Given the description of an element on the screen output the (x, y) to click on. 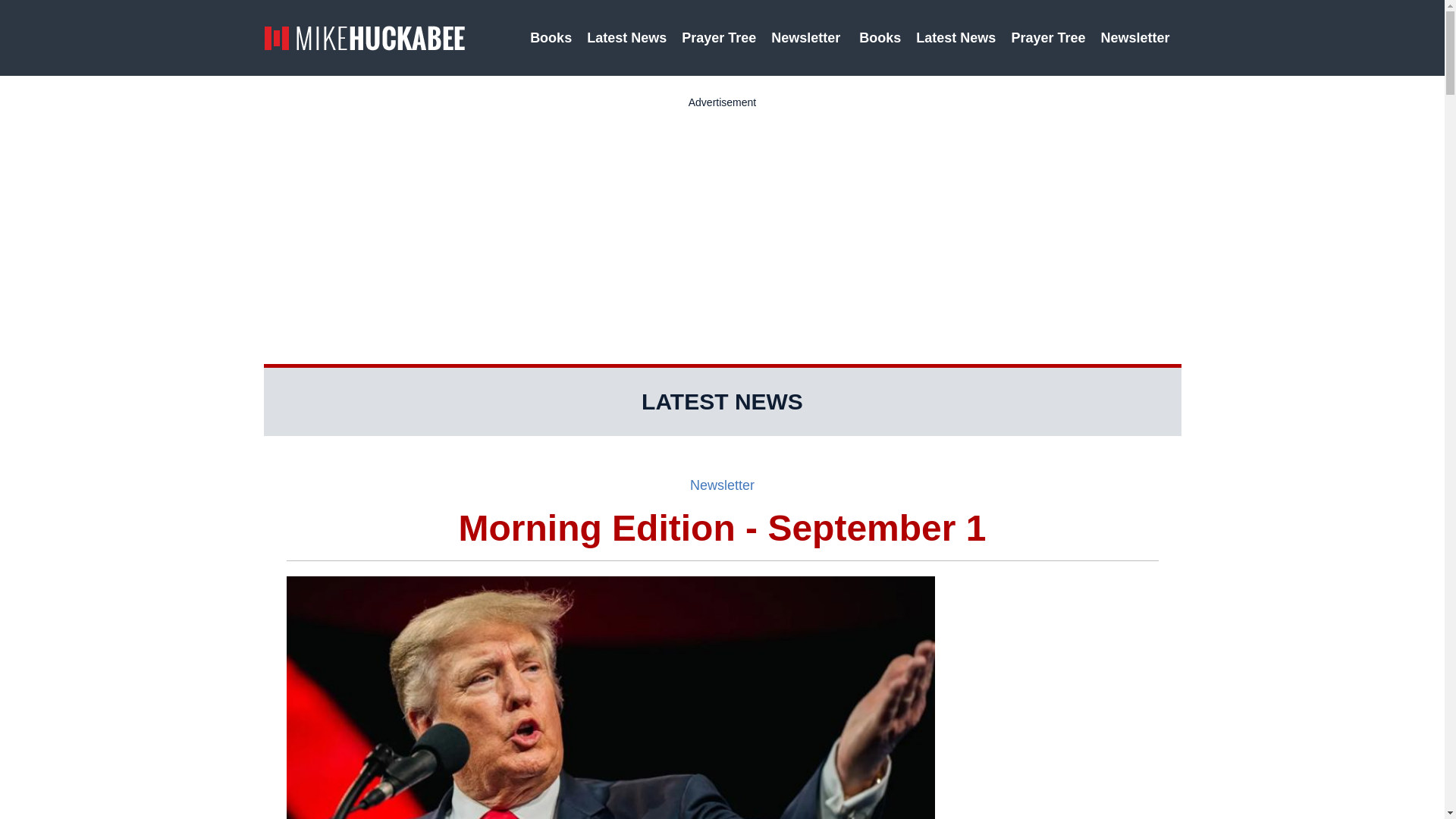
Prayer Tree (1048, 38)
Latest News (955, 38)
Prayer Tree (718, 38)
Newsletter (806, 38)
Newsletter (722, 485)
Newsletter (1136, 38)
Latest News (626, 38)
Morning Edition - September 1 (722, 528)
